Given the description of an element on the screen output the (x, y) to click on. 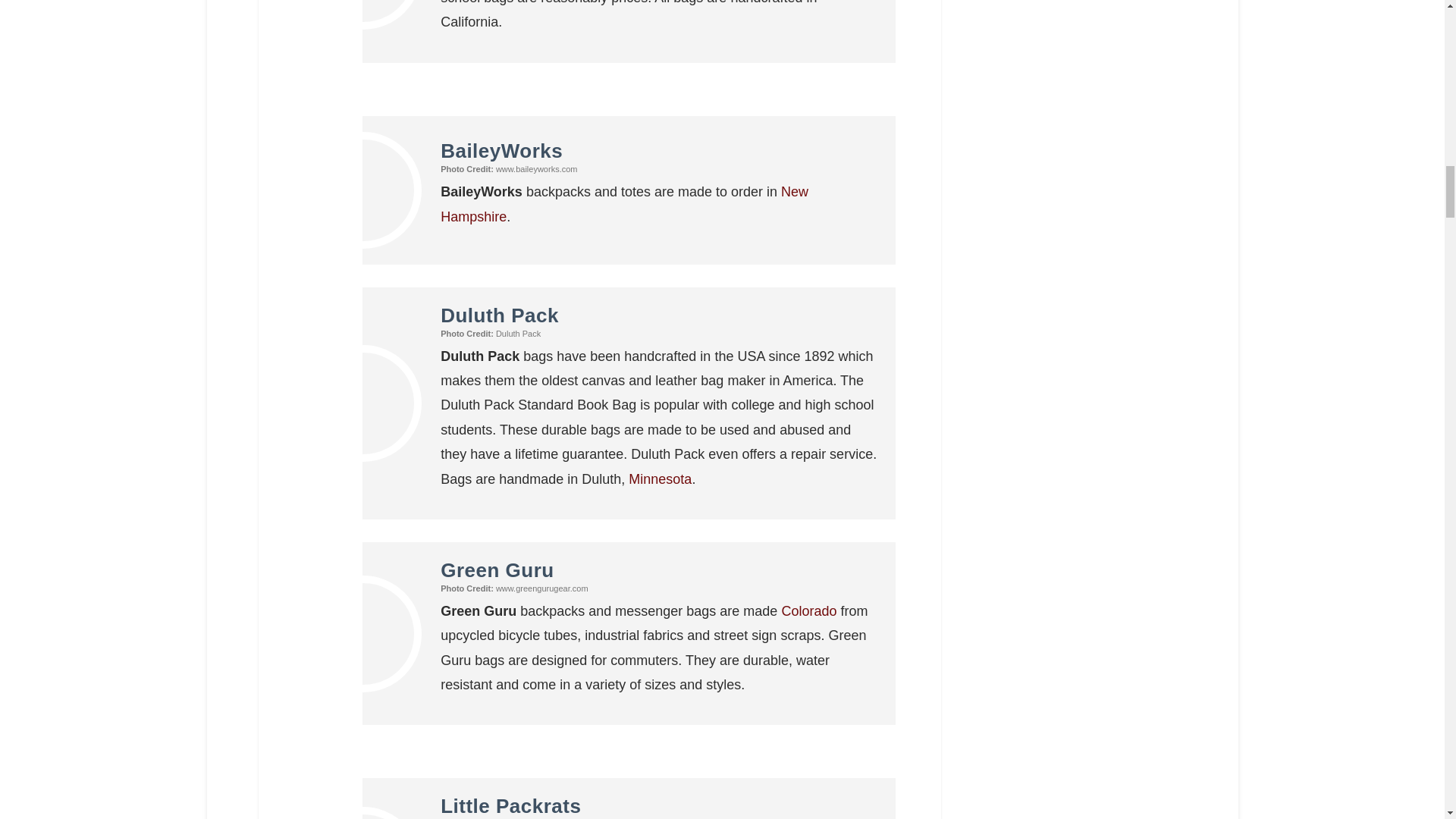
New Hampshire (624, 203)
BaileyWorks (501, 150)
Made in Colorado - USA Love List (807, 611)
